Given the description of an element on the screen output the (x, y) to click on. 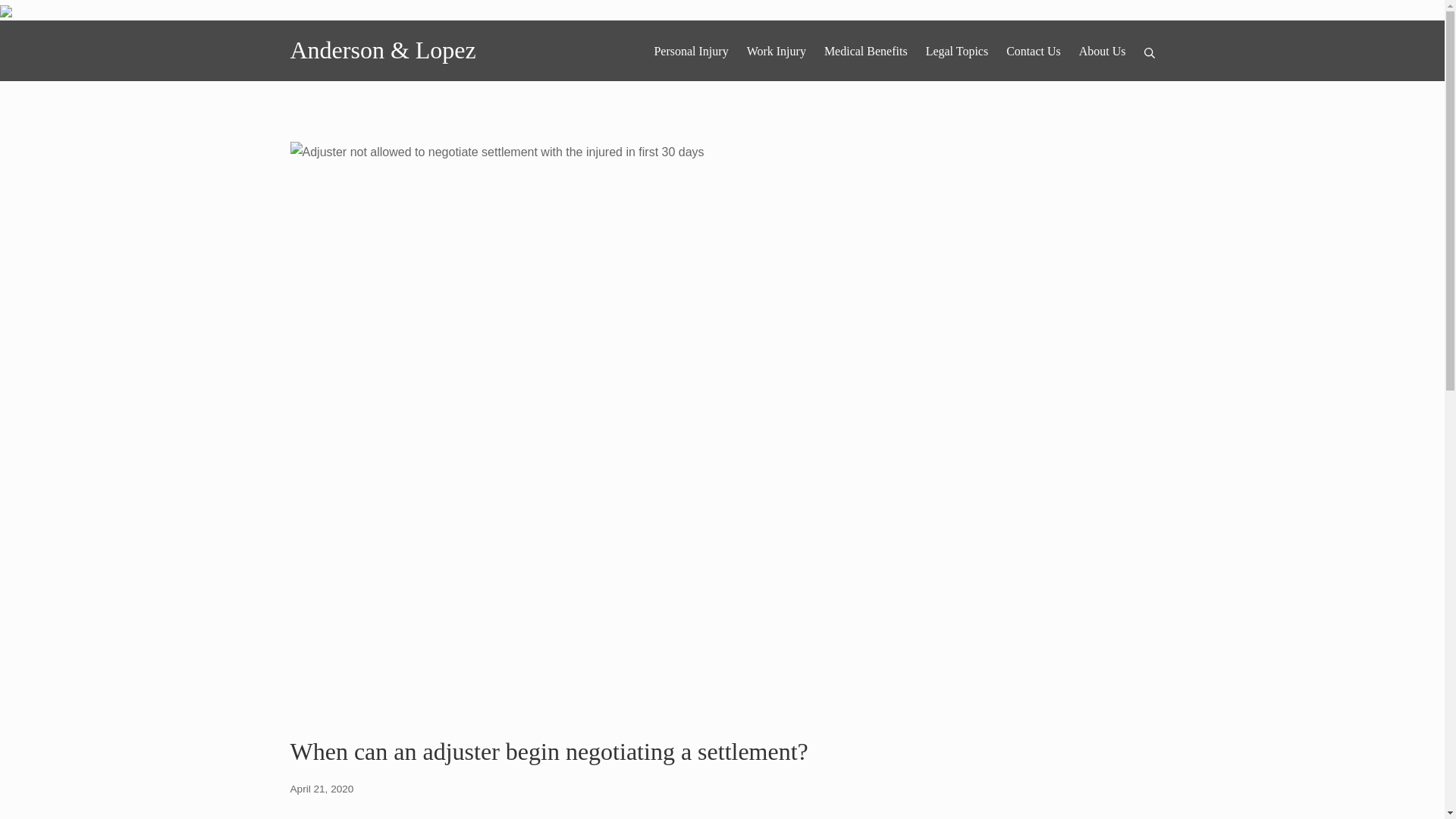
Contact Us (1033, 50)
About Us (1101, 50)
Personal Injury (690, 50)
Search (33, 15)
Medical Benefits (321, 788)
Legal Topics (865, 50)
Work Injury (957, 50)
